Given the description of an element on the screen output the (x, y) to click on. 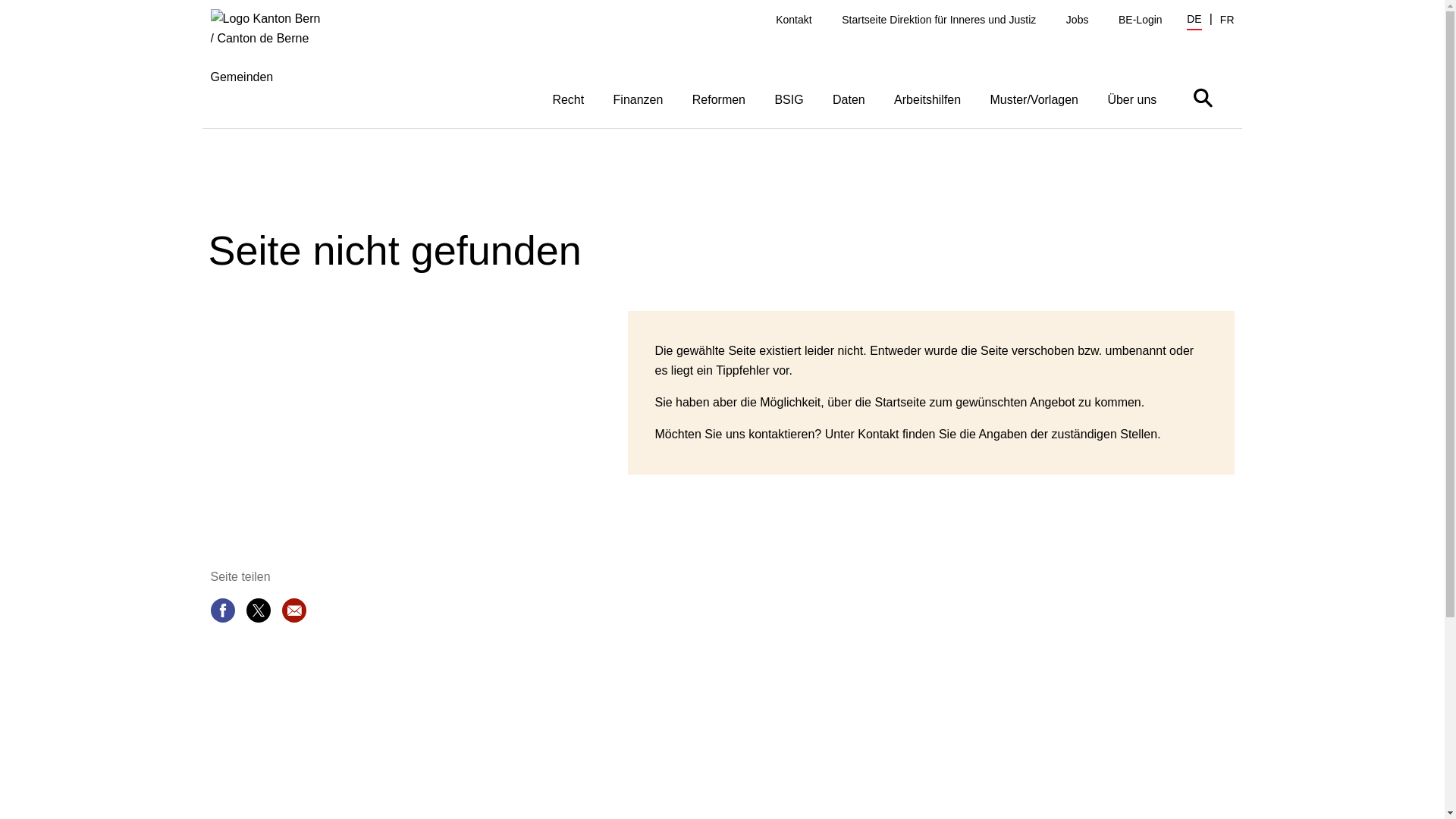
BSIG Element type: text (788, 97)
Finanzen Element type: text (637, 97)
BE-Login Element type: text (1140, 19)
FR Element type: text (1227, 19)
Arbeitshilfen Element type: text (927, 97)
Seite teilen Element type: text (257, 613)
Seite teilen Element type: text (222, 613)
Kontakt Element type: text (793, 19)
Reformen Element type: text (718, 97)
Gemeinden Element type: text (275, 68)
Daten Element type: text (848, 97)
Muster/Vorlagen Element type: text (1033, 97)
Recht Element type: text (567, 97)
Jobs Element type: text (1077, 19)
DE Element type: text (1193, 21)
Suche ein- oder ausblenden Element type: text (1201, 96)
